Given the description of an element on the screen output the (x, y) to click on. 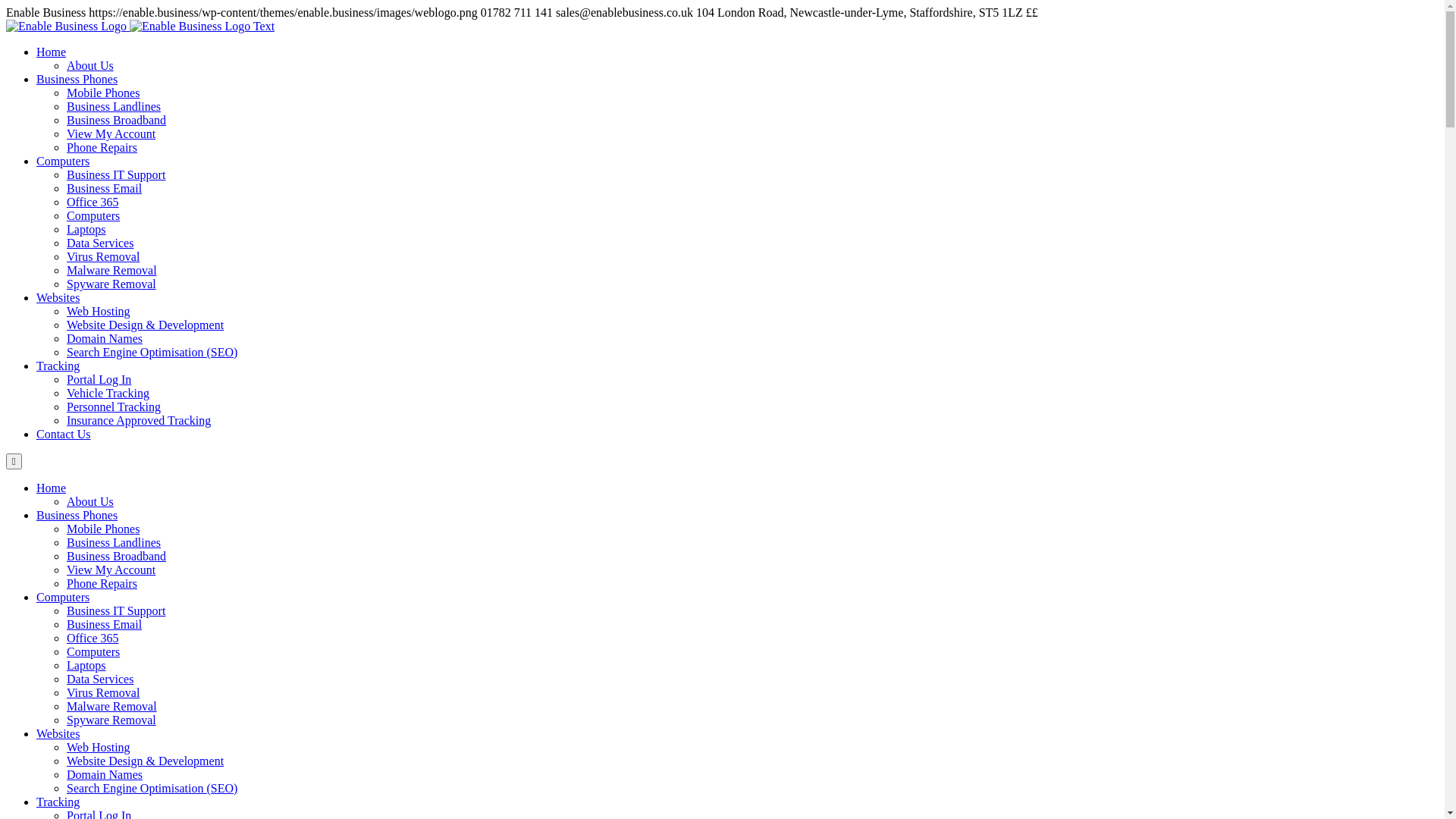
Tracking Element type: text (57, 801)
Virus Removal Element type: text (102, 692)
Web Hosting Element type: text (98, 310)
Business IT Support Element type: text (115, 610)
Web Hosting Element type: text (98, 746)
Laptops Element type: text (86, 664)
Spyware Removal Element type: text (111, 283)
Tracking Element type: text (57, 365)
Office 365 Element type: text (92, 201)
Business Broadband Element type: text (116, 119)
Business Broadband Element type: text (116, 555)
Website Design & Development Element type: text (144, 760)
Business Phones Element type: text (76, 514)
Data Services Element type: text (99, 242)
Business Phones Element type: text (76, 78)
Websites Element type: text (57, 297)
Virus Removal Element type: text (102, 256)
Search Engine Optimisation (SEO) Element type: text (151, 787)
Computers Element type: text (92, 651)
Office 365 Element type: text (92, 637)
Phone Repairs Element type: text (101, 147)
Phone Repairs Element type: text (101, 583)
Domain Names Element type: text (104, 774)
Home Element type: text (50, 487)
Vehicle Tracking Element type: text (107, 392)
Home Element type: text (50, 51)
Insurance Approved Tracking Element type: text (138, 420)
Business Email Element type: text (103, 624)
Laptops Element type: text (86, 228)
Mobile Phones Element type: text (102, 92)
Computers Element type: text (62, 596)
Malware Removal Element type: text (111, 269)
Spyware Removal Element type: text (111, 719)
Business Landlines Element type: text (113, 542)
Domain Names Element type: text (104, 338)
Website Design & Development Element type: text (144, 324)
About Us Element type: text (89, 65)
About Us Element type: text (89, 501)
Search Engine Optimisation (SEO) Element type: text (151, 351)
Computers Element type: text (92, 215)
Portal Log In Element type: text (98, 379)
Mobile Phones Element type: text (102, 528)
Business Email Element type: text (103, 188)
Malware Removal Element type: text (111, 705)
Websites Element type: text (57, 733)
View My Account Element type: text (110, 569)
Business IT Support Element type: text (115, 174)
Contact Us Element type: text (63, 433)
Personnel Tracking Element type: text (113, 406)
Business Landlines Element type: text (113, 106)
Data Services Element type: text (99, 678)
Computers Element type: text (62, 160)
View My Account Element type: text (110, 133)
